Given the description of an element on the screen output the (x, y) to click on. 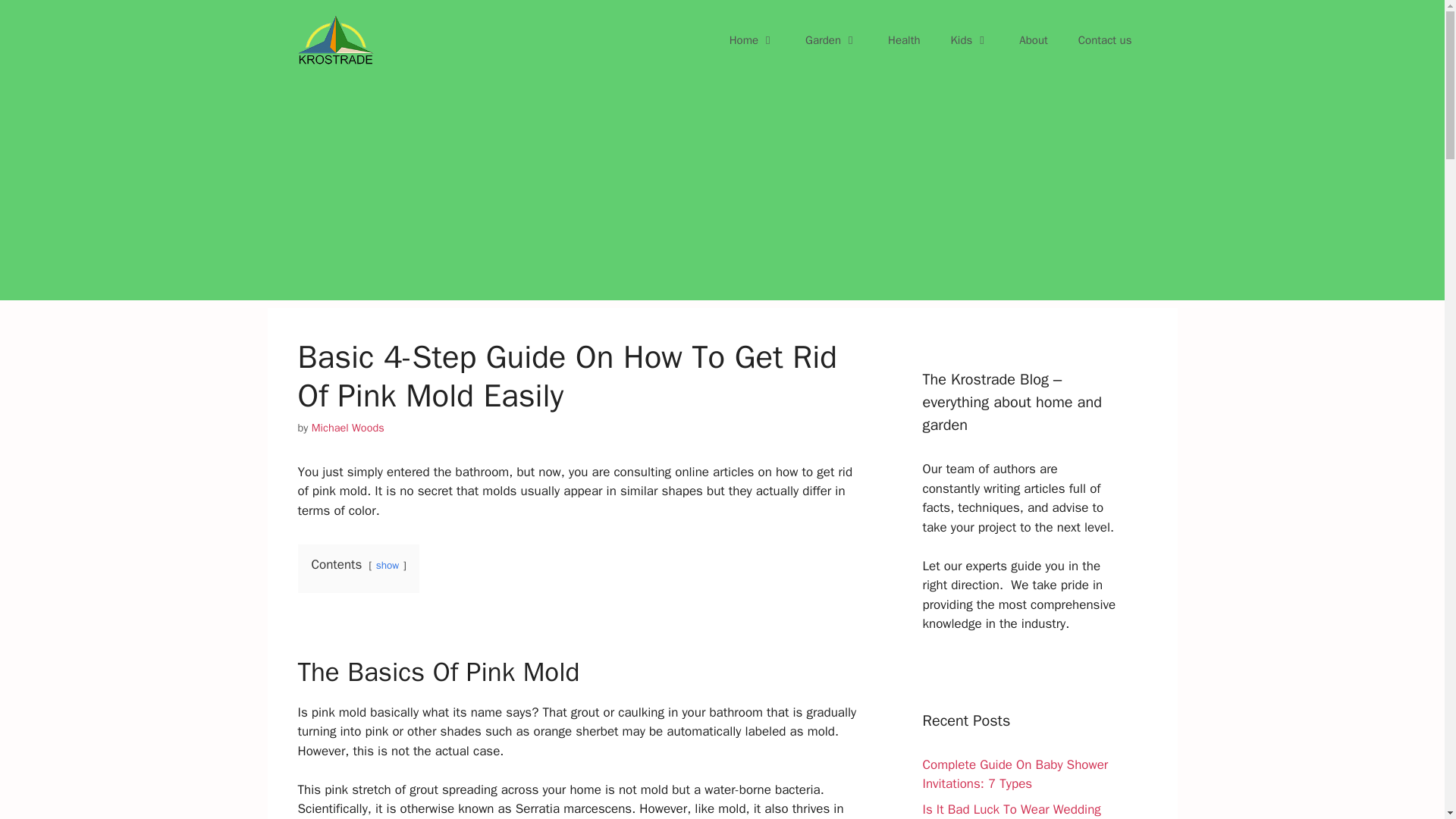
Kids (970, 40)
show (386, 564)
View all posts by Michael Woods (347, 427)
Garden (831, 40)
Michael Woods (347, 427)
Home (752, 40)
Health (904, 40)
Contact us (1104, 40)
About (1033, 40)
